Given the description of an element on the screen output the (x, y) to click on. 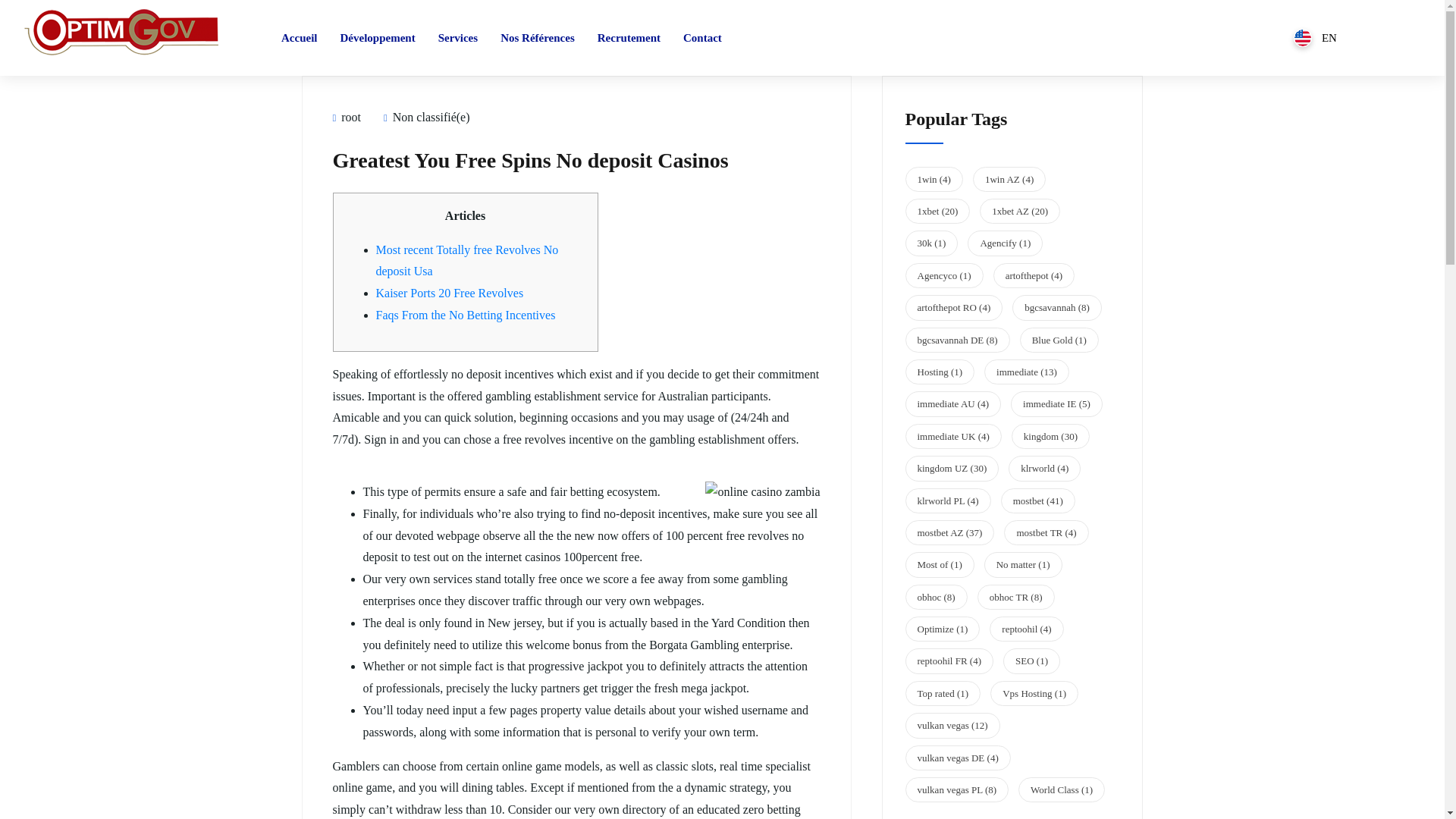
root (346, 116)
Faqs From the No Betting Incentives (465, 314)
Kaiser Ports 20 Free Revolves (449, 292)
Most recent Totally free Revolves No deposit Usa (467, 260)
EN (1315, 37)
